Given the description of an element on the screen output the (x, y) to click on. 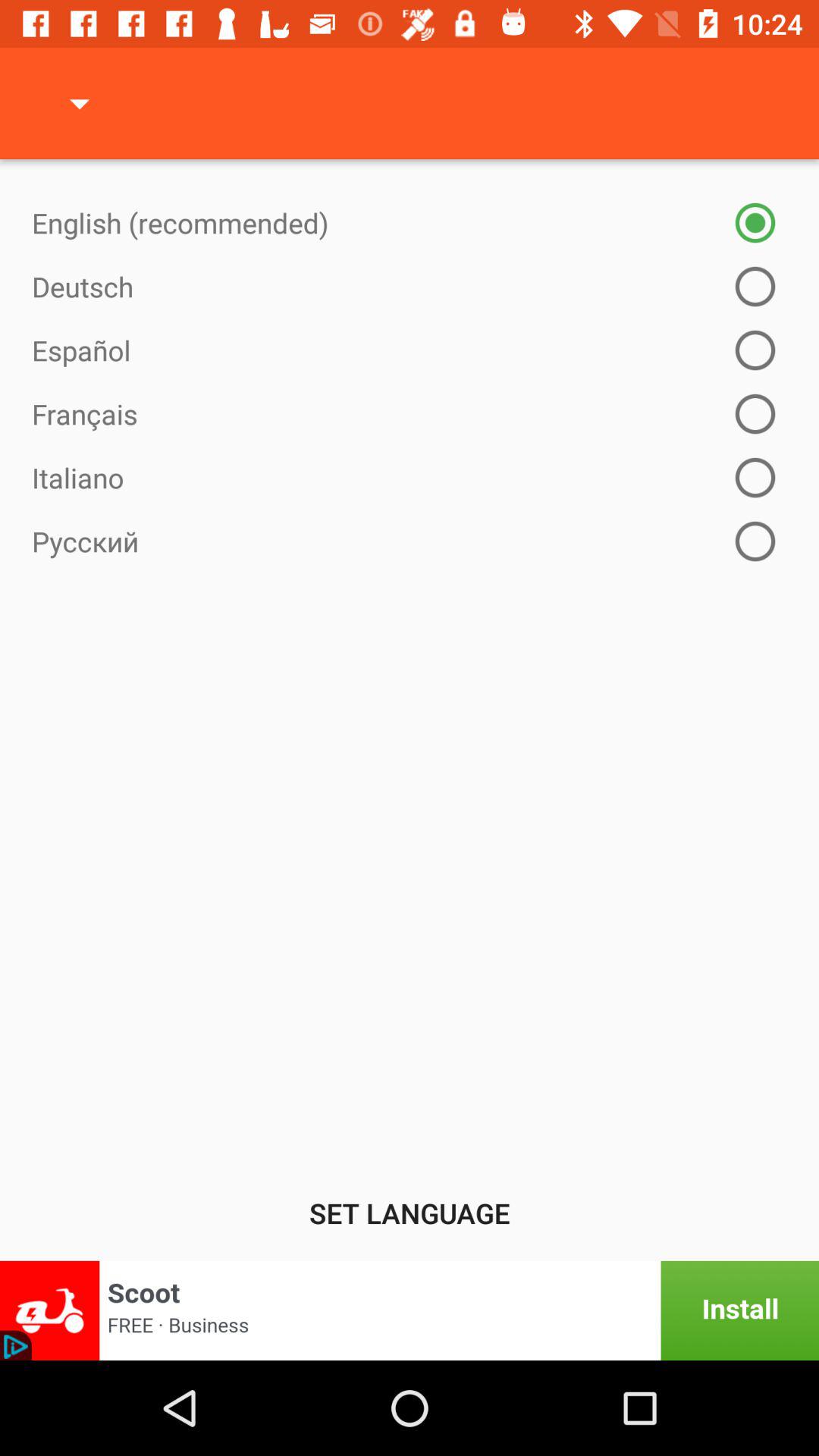
install app (409, 1310)
